Given the description of an element on the screen output the (x, y) to click on. 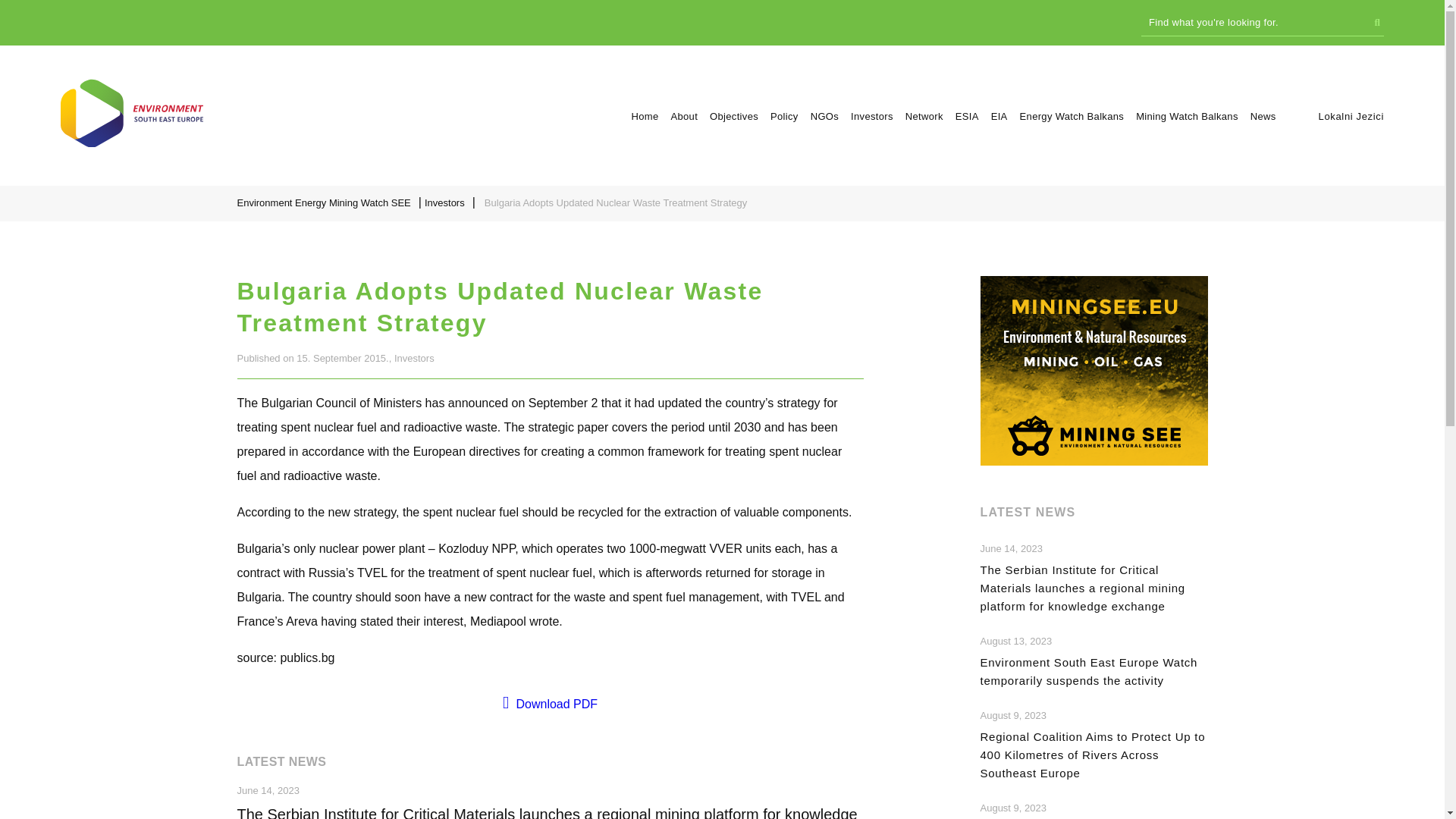
Investors (446, 202)
ESIA (966, 116)
Download PDF (549, 702)
Lokalni Jezici (1351, 116)
Environment Energy Mining Watch SEE (324, 202)
Go to the Investors category archives. (446, 202)
NGOs (824, 116)
Objectives (734, 116)
Environmentsee Logo (132, 112)
News (1263, 116)
About (683, 116)
Investors (871, 116)
Home (644, 116)
